Given the description of an element on the screen output the (x, y) to click on. 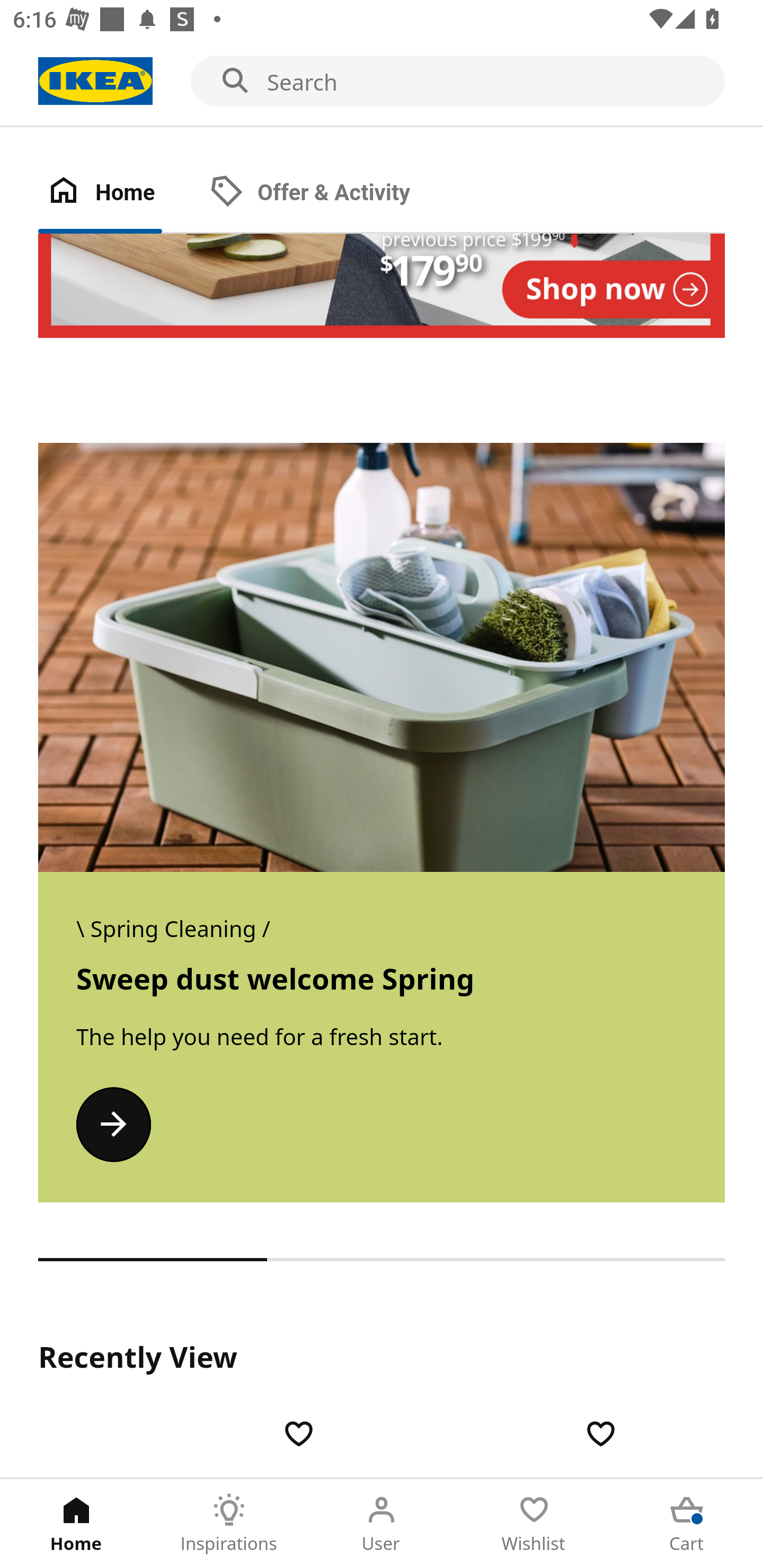
Search (381, 81)
Home
Tab 1 of 2 (118, 192)
Offer & Activity
Tab 2 of 2 (327, 192)
Home
Tab 1 of 5 (76, 1522)
Inspirations
Tab 2 of 5 (228, 1522)
User
Tab 3 of 5 (381, 1522)
Wishlist
Tab 4 of 5 (533, 1522)
Cart
Tab 5 of 5 (686, 1522)
